Given the description of an element on the screen output the (x, y) to click on. 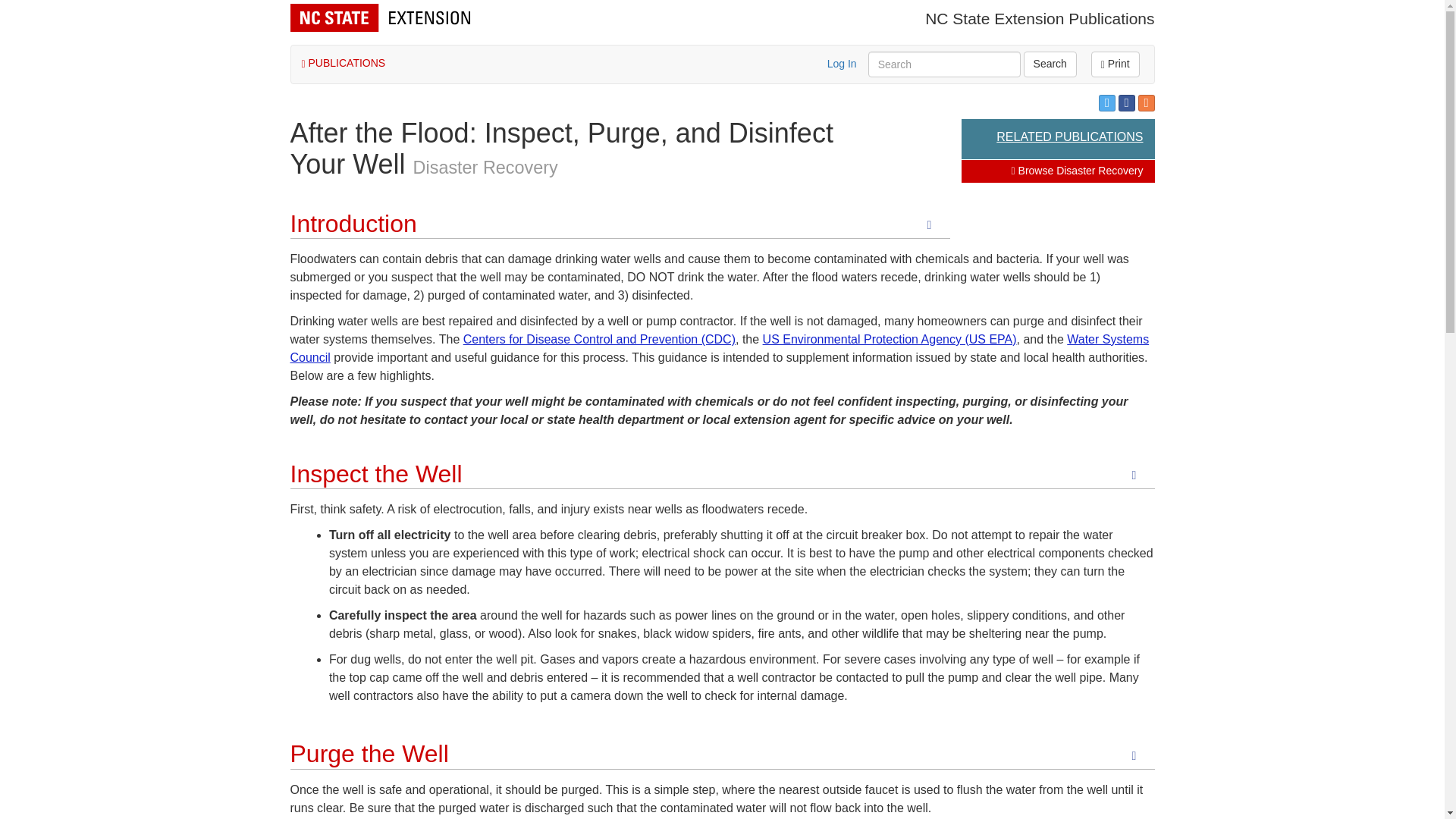
Share on Facebook (1126, 103)
Browse Disaster Recovery publications (1076, 170)
Browse Disaster Recovery publications (485, 167)
Print (1115, 63)
PUBLICATIONS (343, 62)
Share on Twitter (1107, 103)
Browse Disaster Recovery (1076, 170)
Search (1050, 63)
Subscribe to Disaster Recovery (1145, 103)
Water Systems Council (718, 347)
Disaster Recovery (485, 167)
Log In (842, 63)
